Given the description of an element on the screen output the (x, y) to click on. 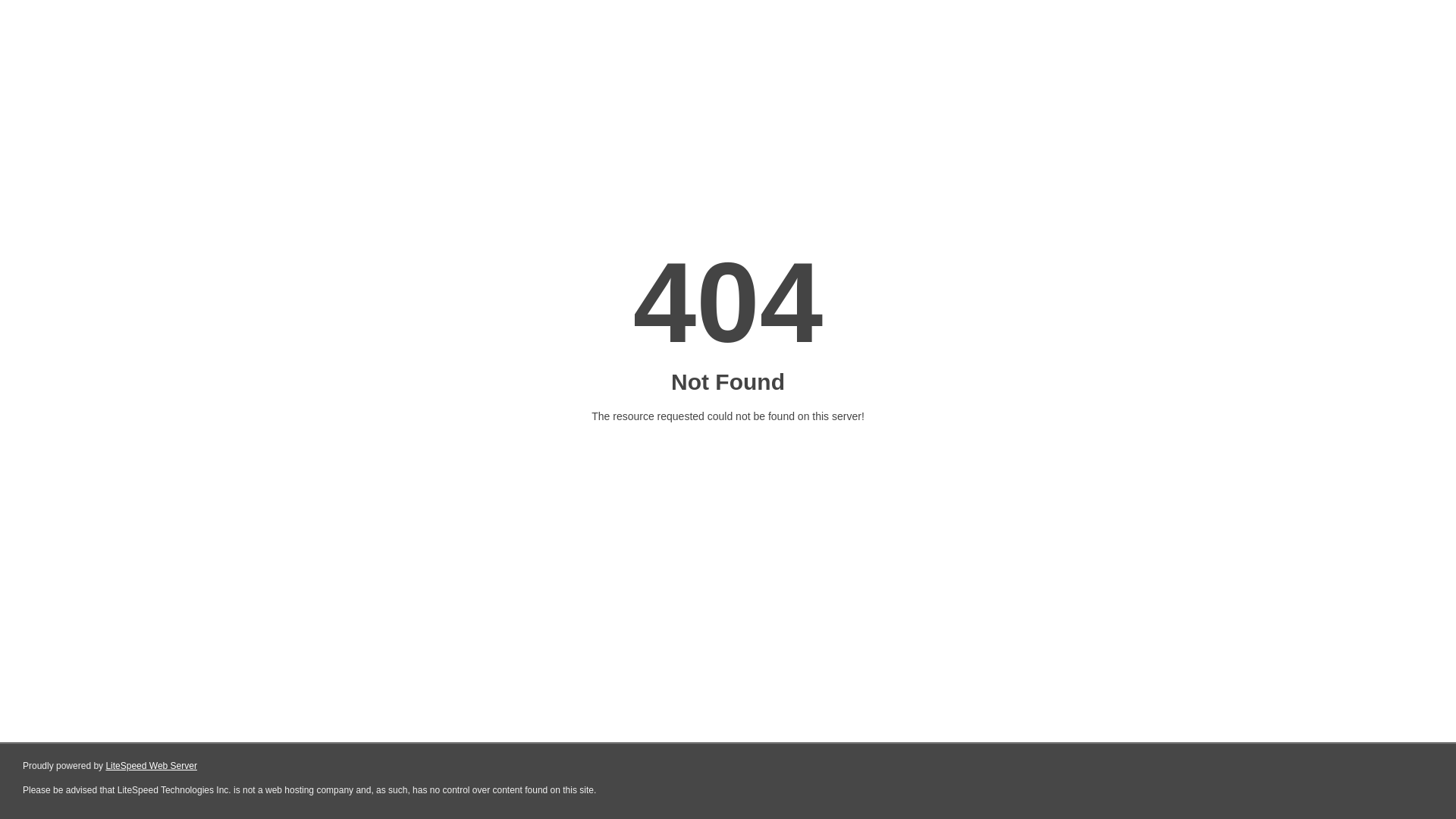
LiteSpeed Web Server Element type: text (151, 765)
